Given the description of an element on the screen output the (x, y) to click on. 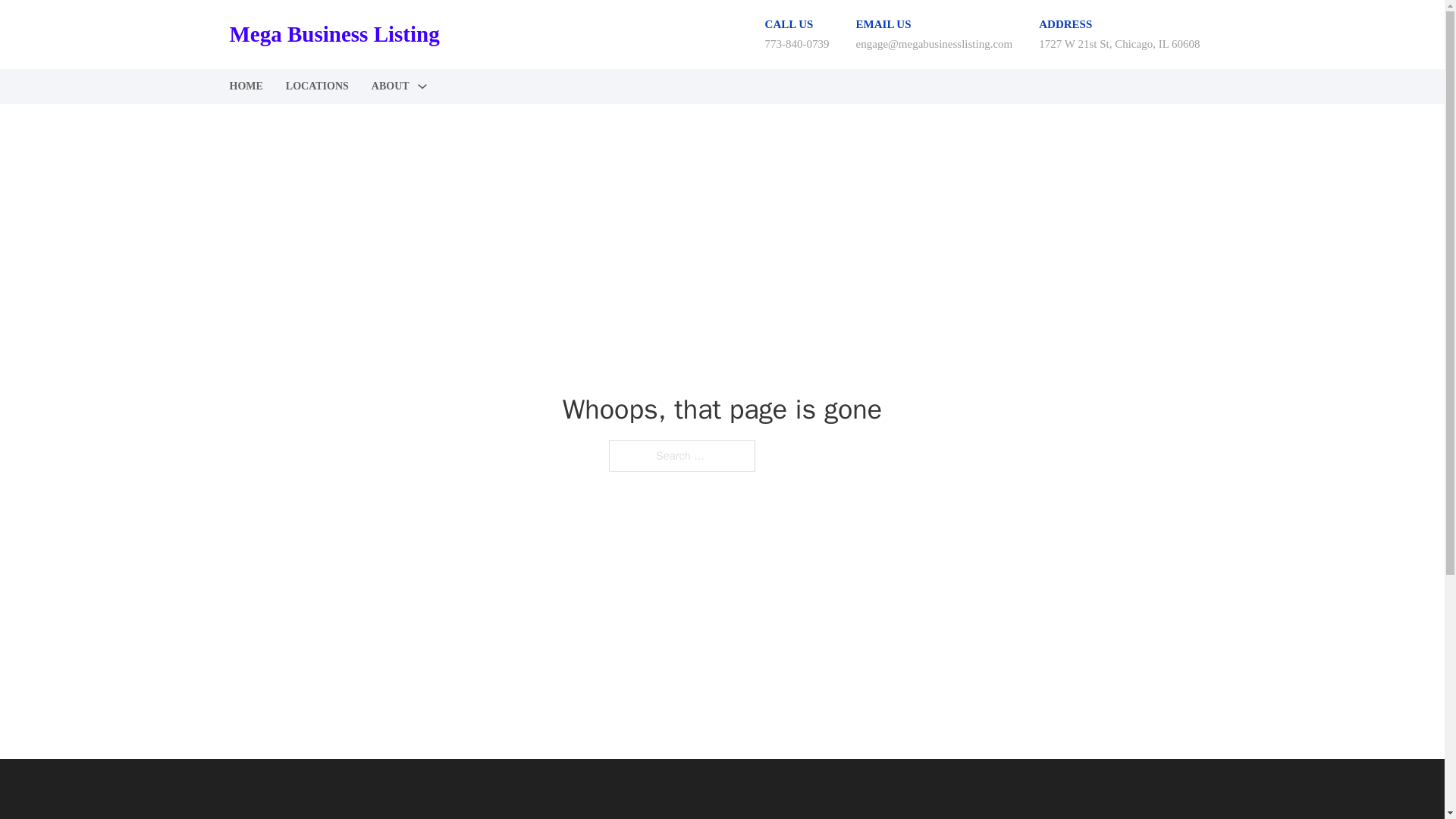
LOCATIONS (317, 85)
773-840-0739 (797, 43)
HOME (245, 85)
Mega Business Listing (333, 34)
